Given the description of an element on the screen output the (x, y) to click on. 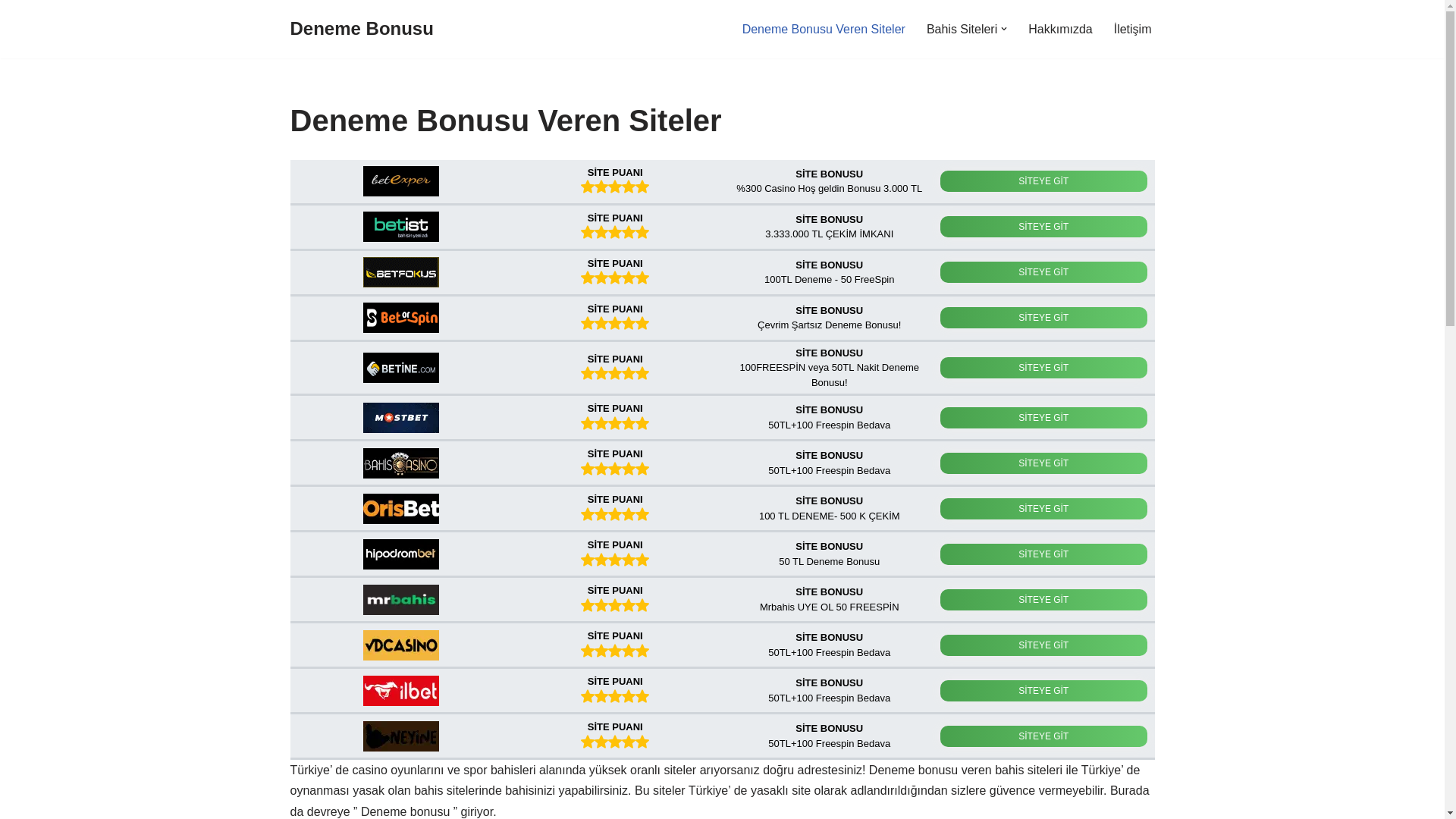
Bahis Siteleri Element type: text (961, 28)
Deneme Bonusu Element type: text (361, 28)
Deneme Bonusu Veren Siteler Element type: text (823, 28)
